Given the description of an element on the screen output the (x, y) to click on. 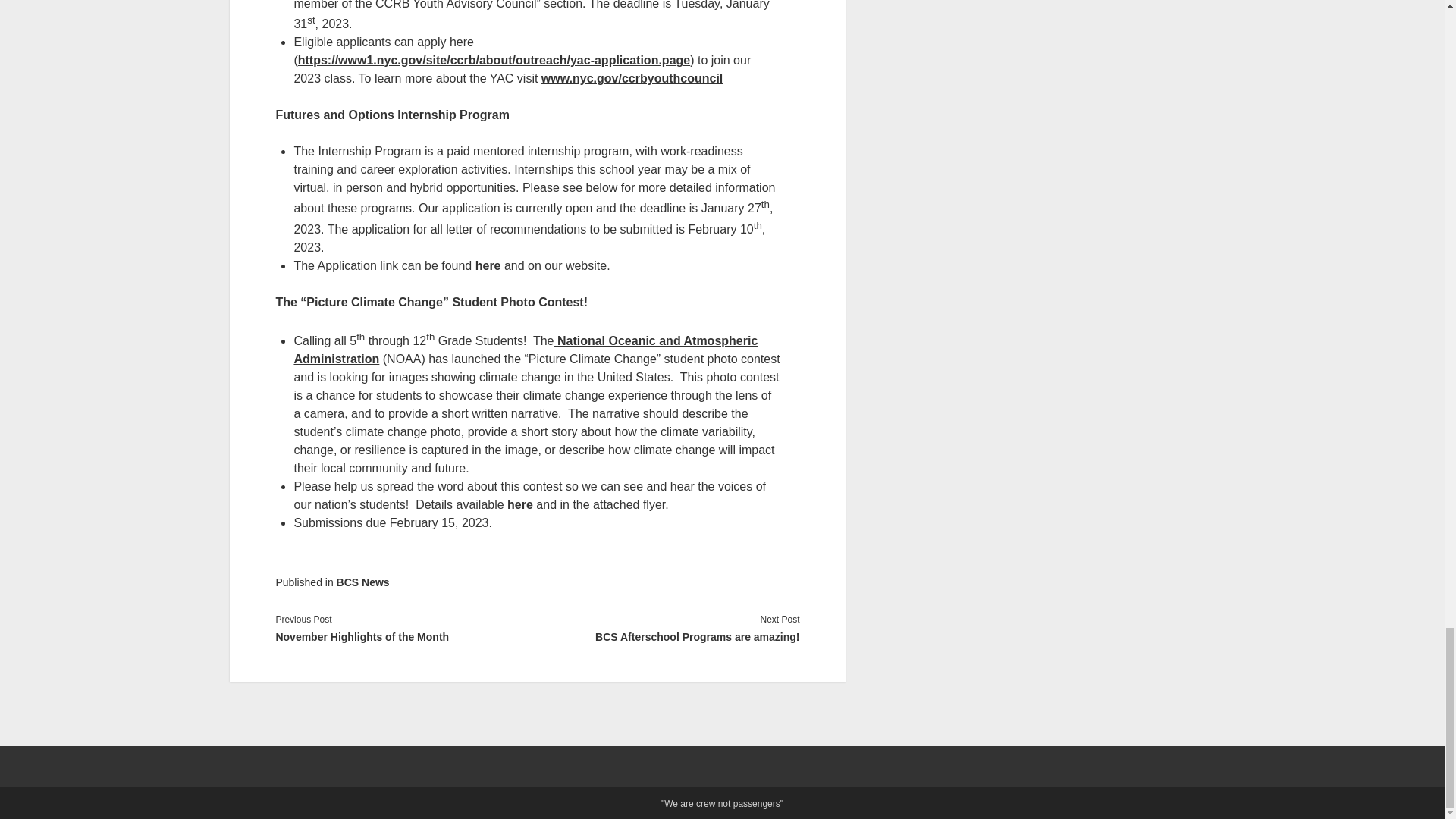
View all posts in BCS News (363, 582)
